Given the description of an element on the screen output the (x, y) to click on. 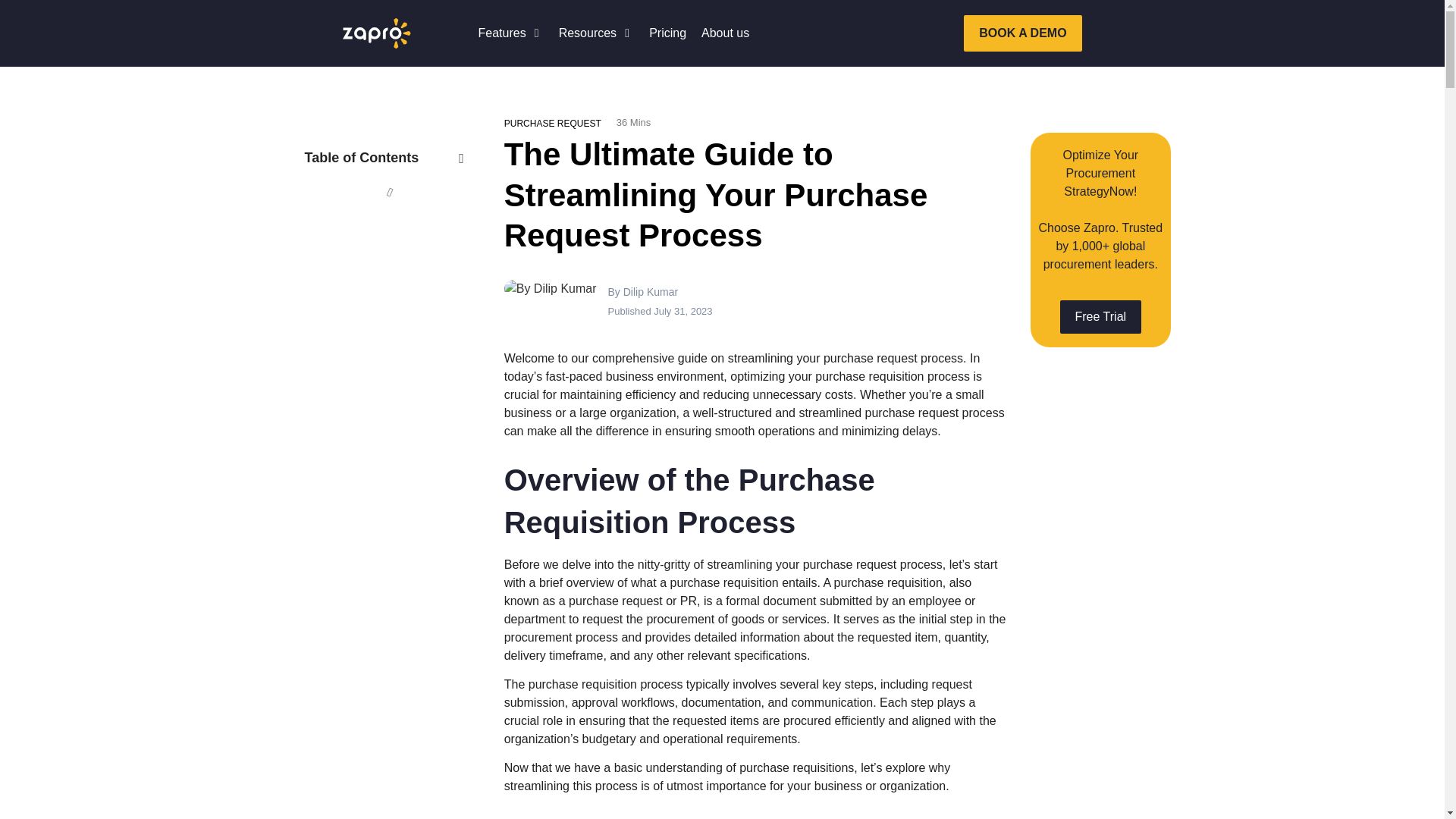
Resources (587, 33)
Pricing (667, 33)
BOOK A DEMO (1022, 33)
Features (501, 33)
About us (725, 33)
